Given the description of an element on the screen output the (x, y) to click on. 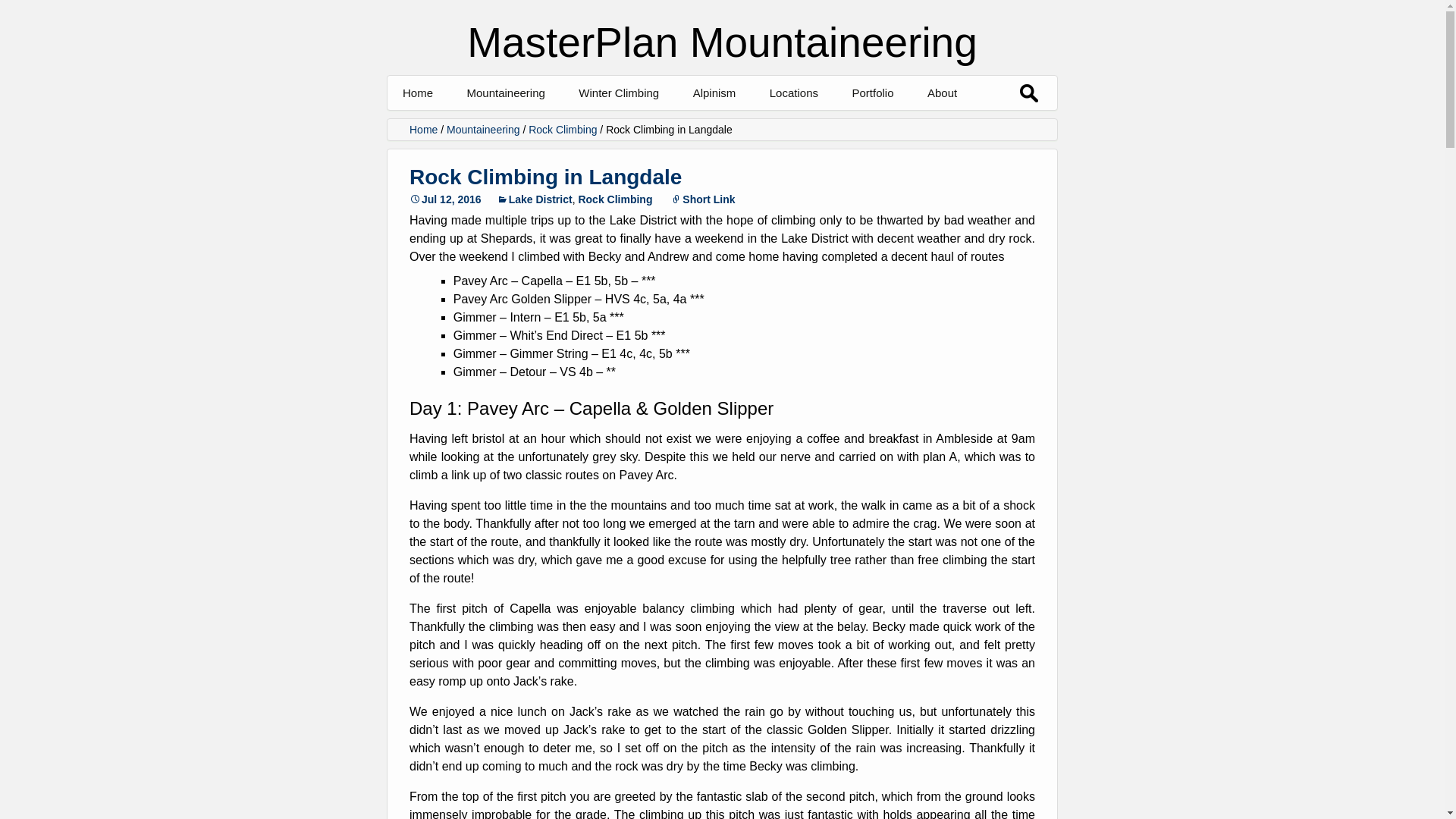
North Wales (845, 126)
Portfolio (871, 92)
All (542, 126)
Permalink to Rock Climbing in Langdale (445, 199)
Winter Climbing (618, 92)
Alpinism (714, 92)
Locations (793, 92)
About (942, 92)
Mountaineering (505, 92)
Blog (769, 126)
Blog (654, 126)
Contact (1003, 126)
Home (417, 92)
Climbing-Alpine (926, 126)
